Given the description of an element on the screen output the (x, y) to click on. 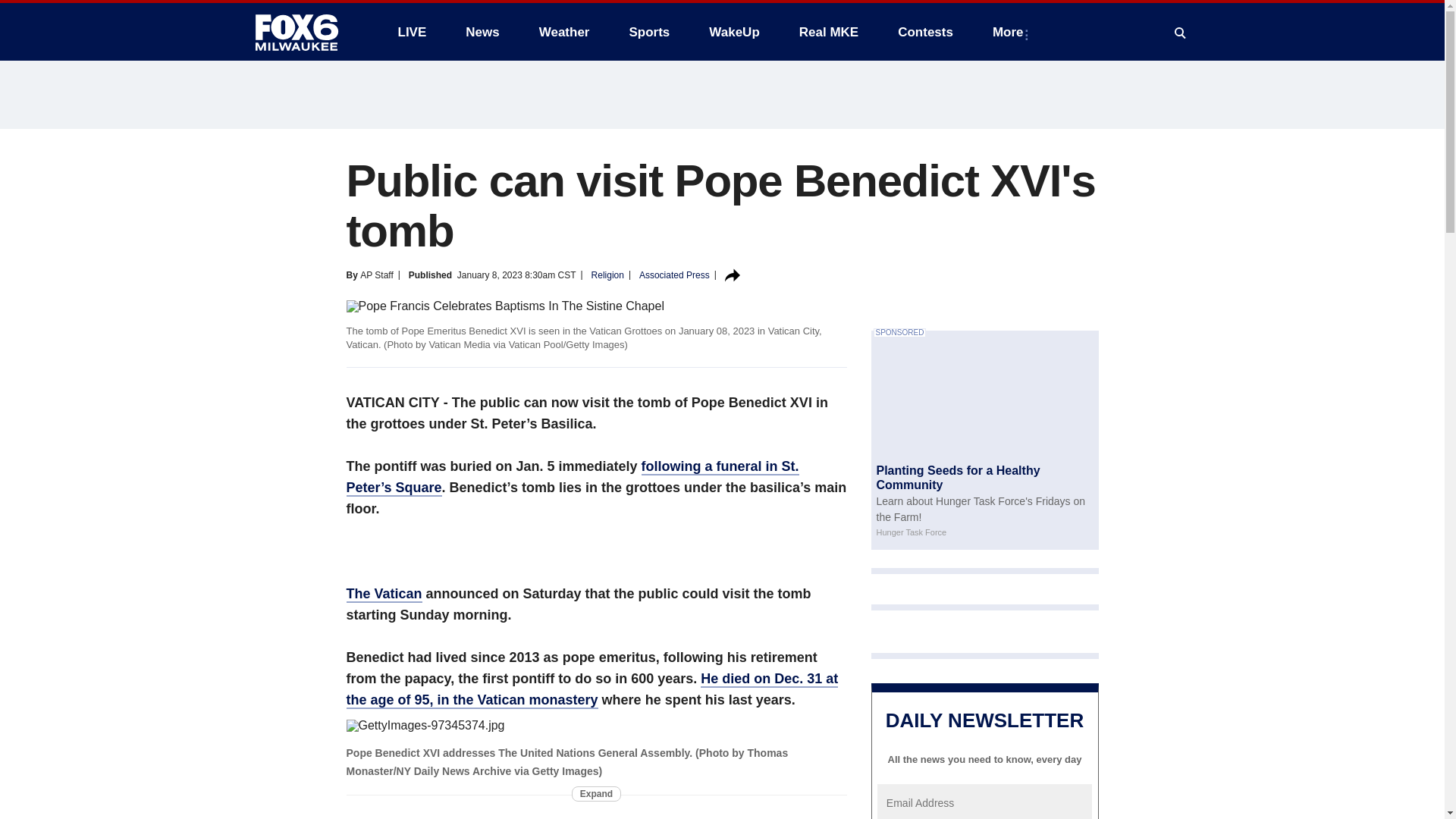
More (1010, 32)
News (481, 32)
WakeUp (734, 32)
Contests (925, 32)
LIVE (411, 32)
Sports (648, 32)
Real MKE (828, 32)
Weather (564, 32)
